Given the description of an element on the screen output the (x, y) to click on. 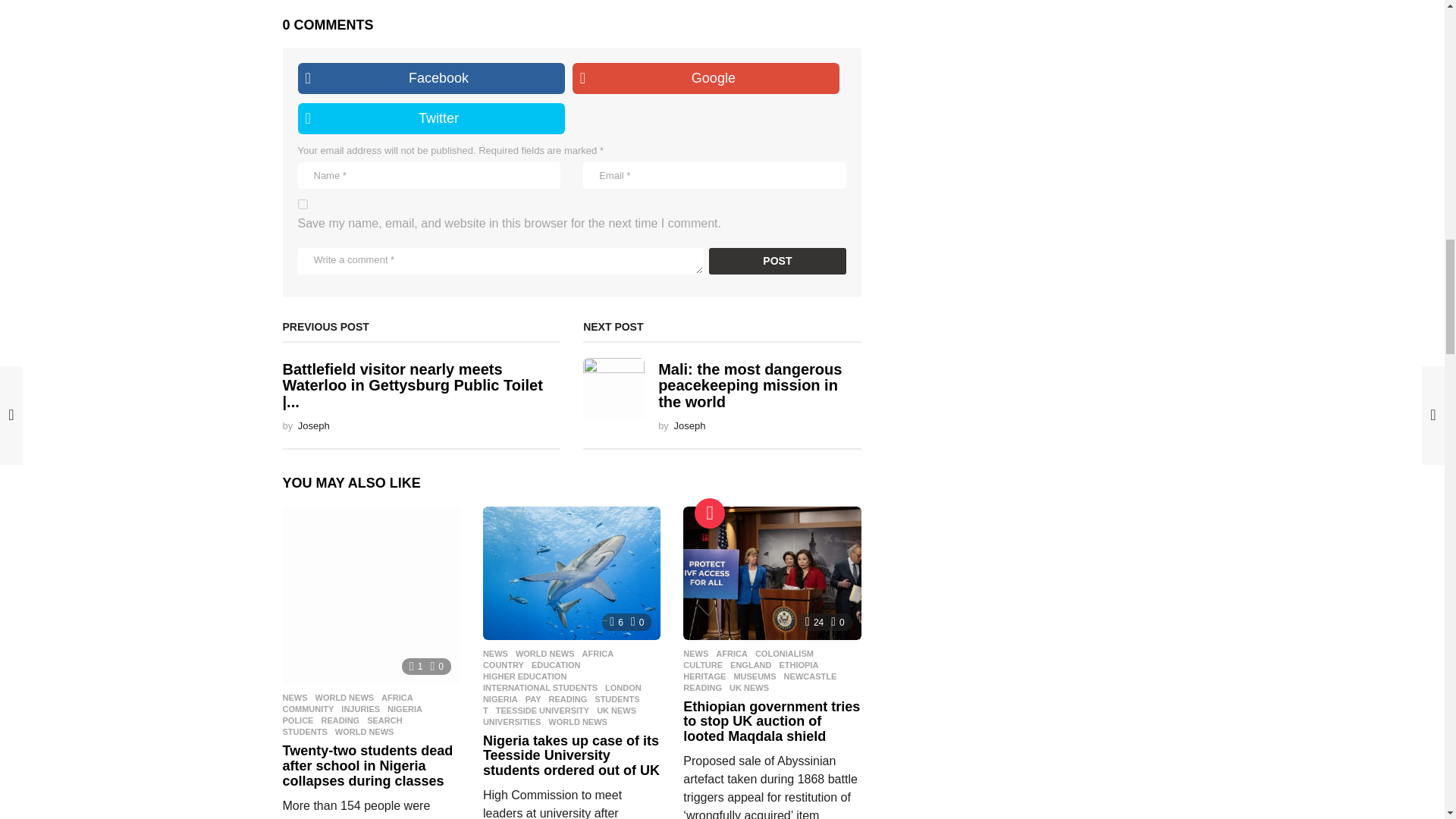
Post (777, 261)
Popular (709, 512)
yes (302, 204)
